Given the description of an element on the screen output the (x, y) to click on. 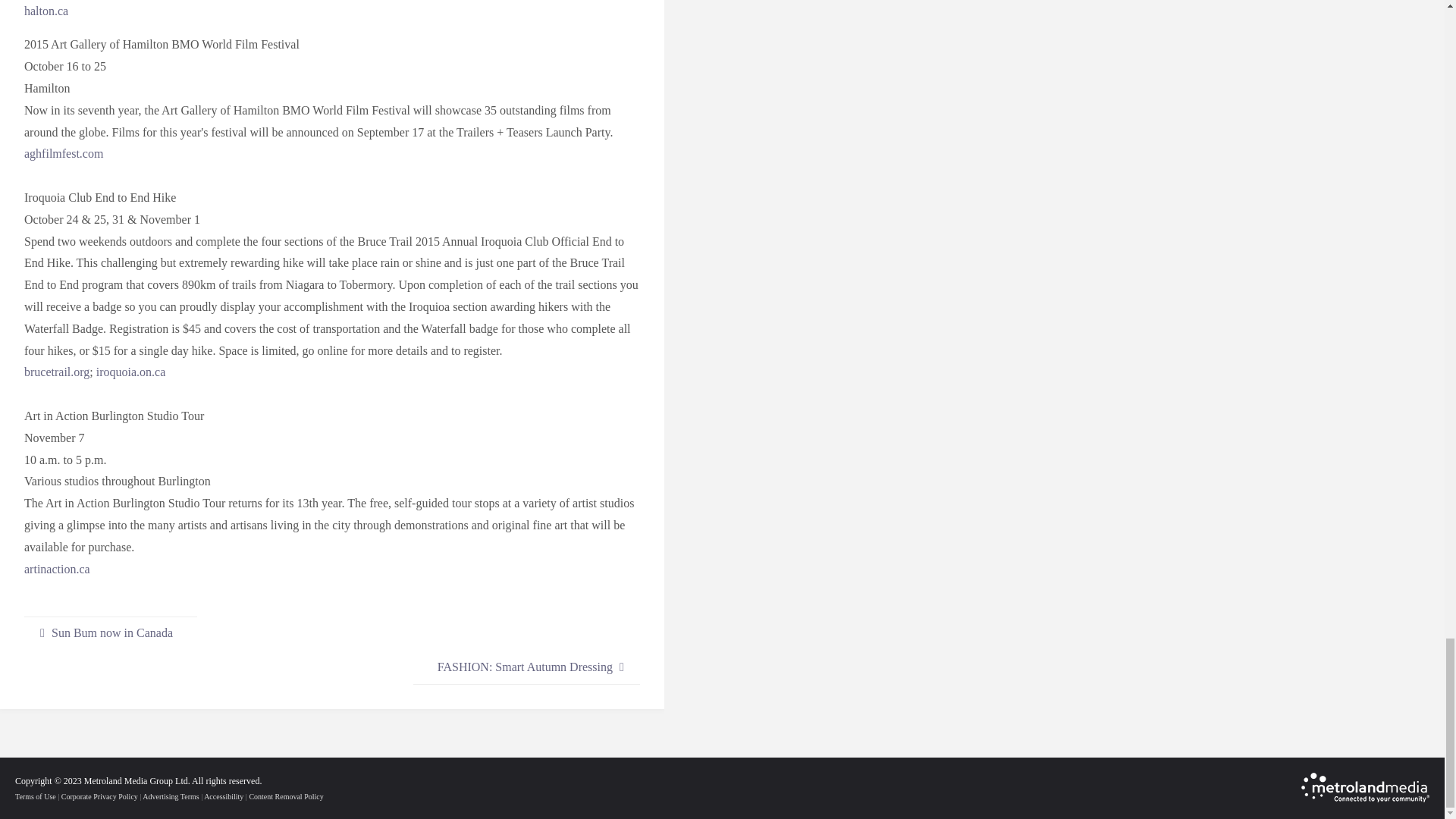
halton.ca (46, 10)
